Given the description of an element on the screen output the (x, y) to click on. 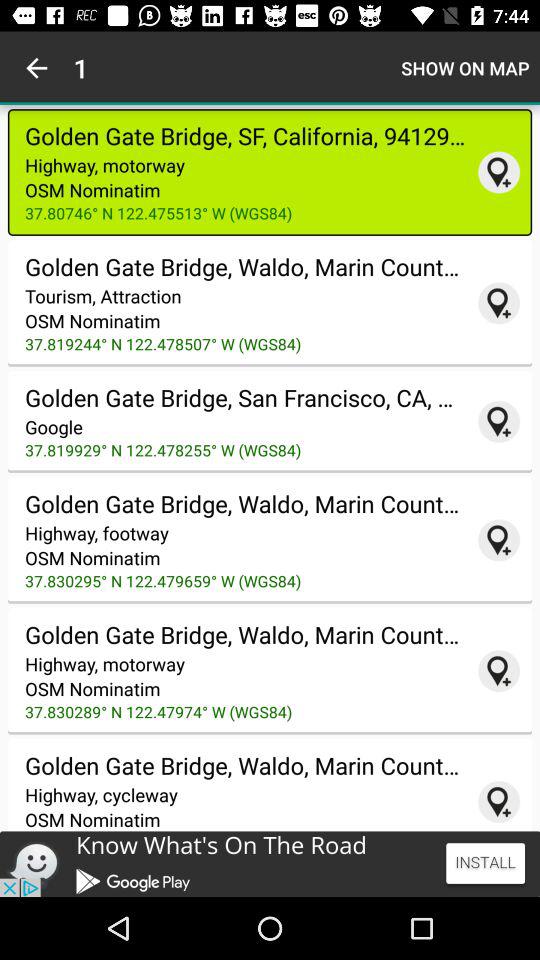
edit this location (499, 671)
